Given the description of an element on the screen output the (x, y) to click on. 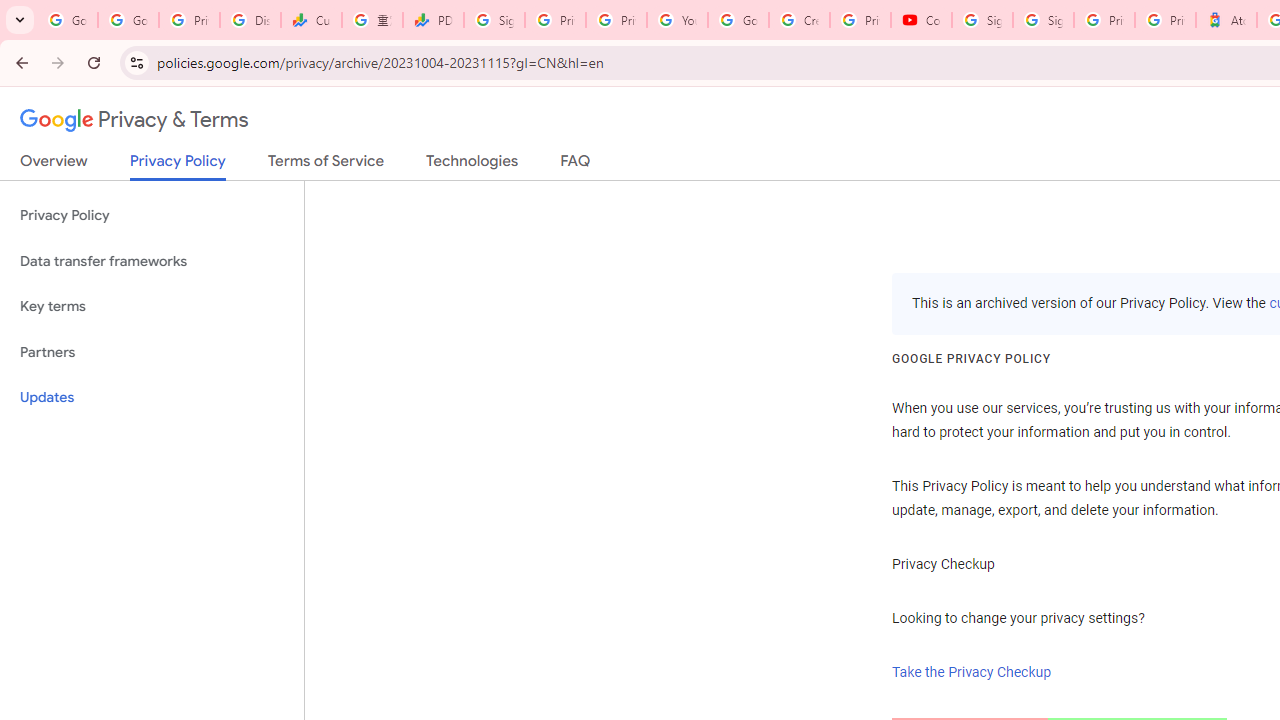
Create your Google Account (799, 20)
Content Creator Programs & Opportunities - YouTube Creators (921, 20)
Privacy Checkup (616, 20)
Google Account Help (738, 20)
Currencies - Google Finance (310, 20)
YouTube (676, 20)
